Given the description of an element on the screen output the (x, y) to click on. 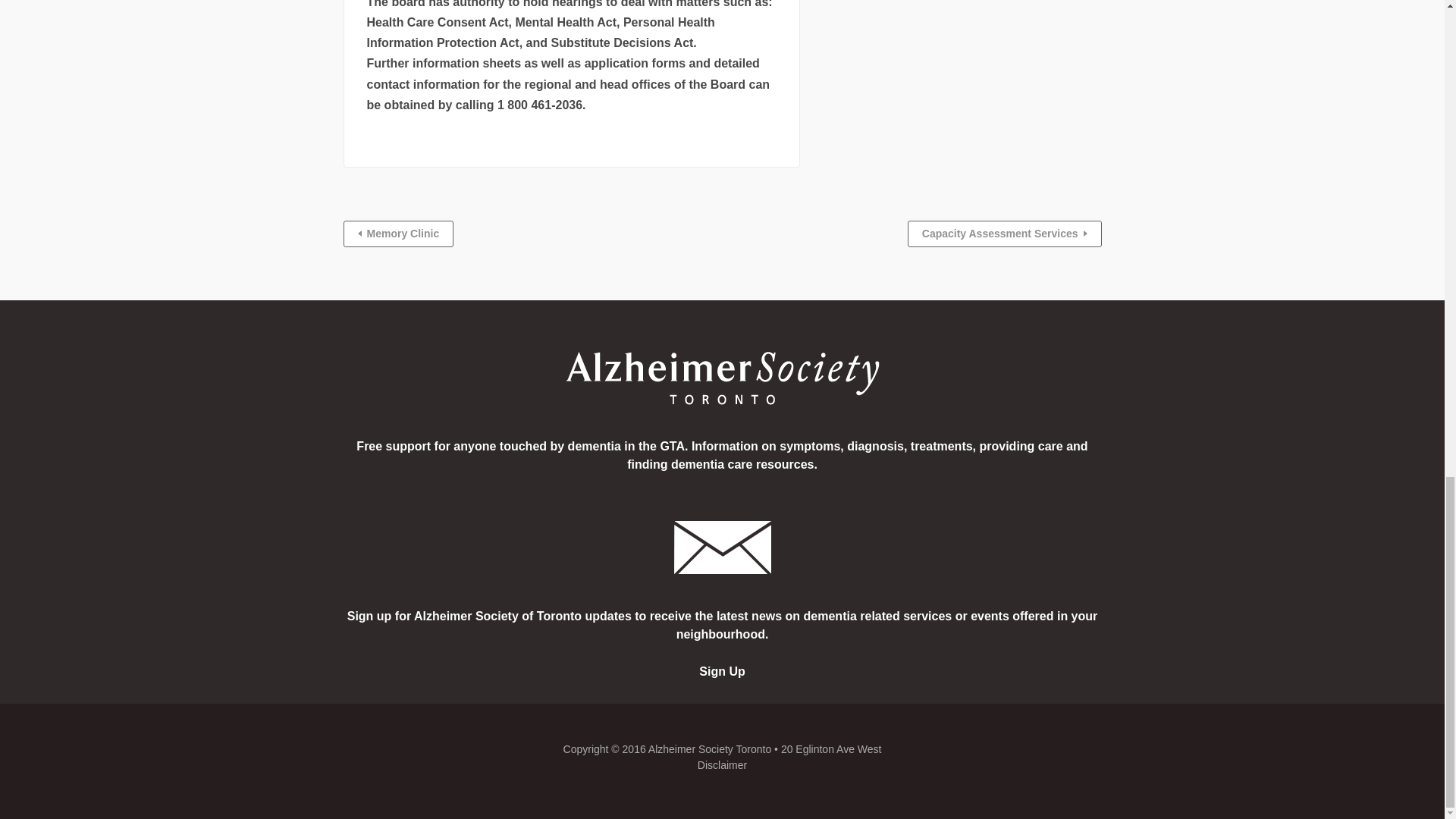
Capacity Assessment Services (1004, 233)
Disclaimer (721, 765)
Memory Clinic (397, 233)
Sign Up (721, 671)
email-signup-white (721, 547)
AST Email Updates (721, 671)
